Given the description of an element on the screen output the (x, y) to click on. 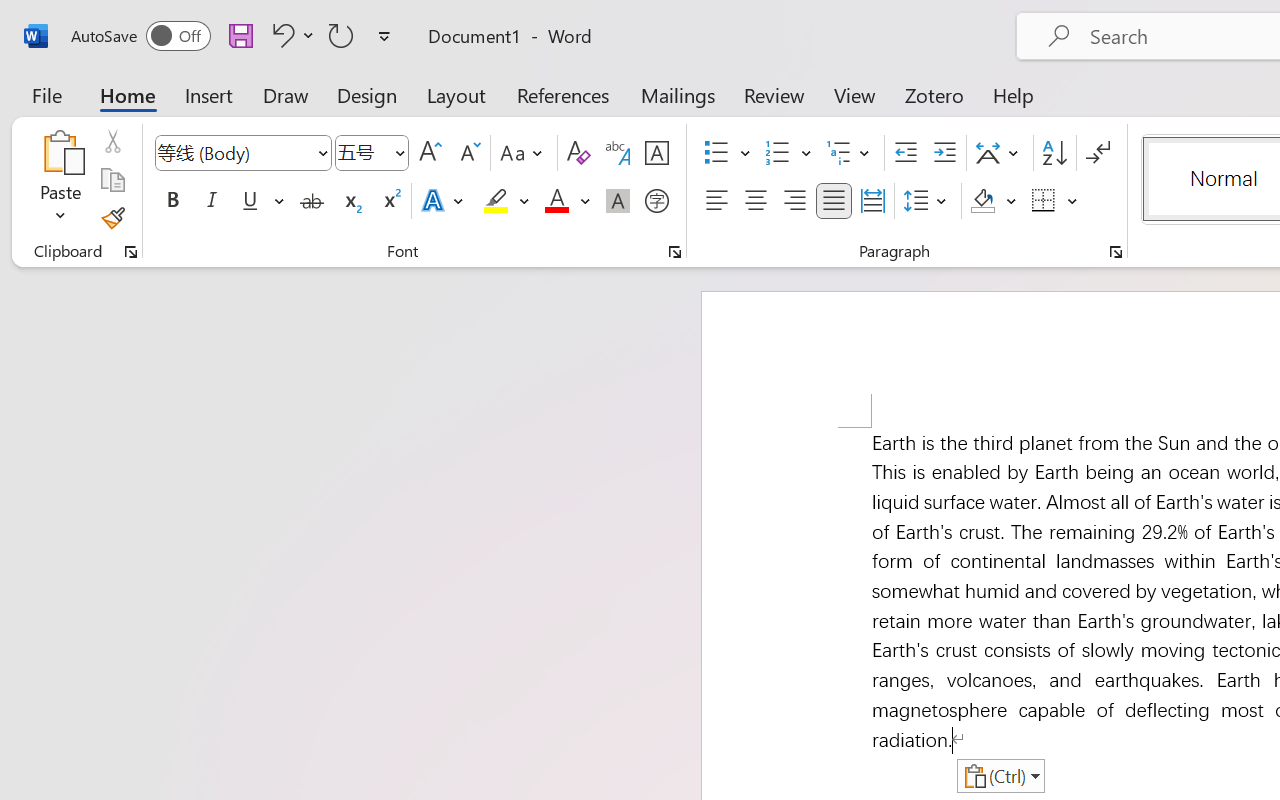
Increase Indent (944, 153)
Sort... (1054, 153)
Shading RGB(0, 0, 0) (982, 201)
Phonetic Guide... (618, 153)
Cut (112, 141)
Distributed (872, 201)
Show/Hide Editing Marks (1098, 153)
Action: Paste alternatives (1000, 775)
Line and Paragraph Spacing (927, 201)
